Given the description of an element on the screen output the (x, y) to click on. 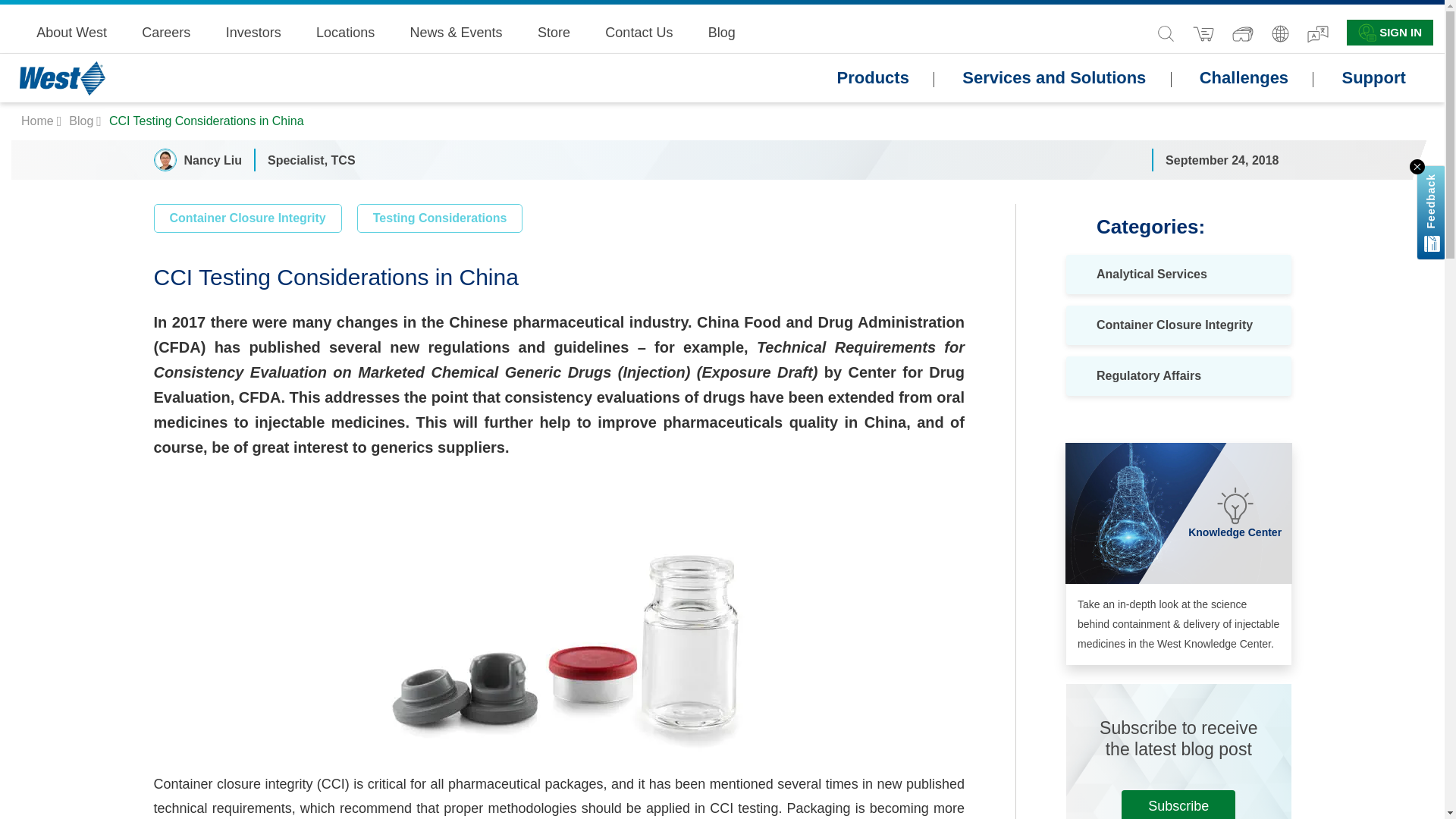
Blog (721, 32)
Testing Considerations (439, 217)
About West (70, 32)
Locations (344, 32)
Blog (82, 120)
Services and Solutions (1053, 78)
WestPharma (38, 120)
SIGN IN (1390, 32)
Store (553, 32)
Investors (253, 32)
